Given the description of an element on the screen output the (x, y) to click on. 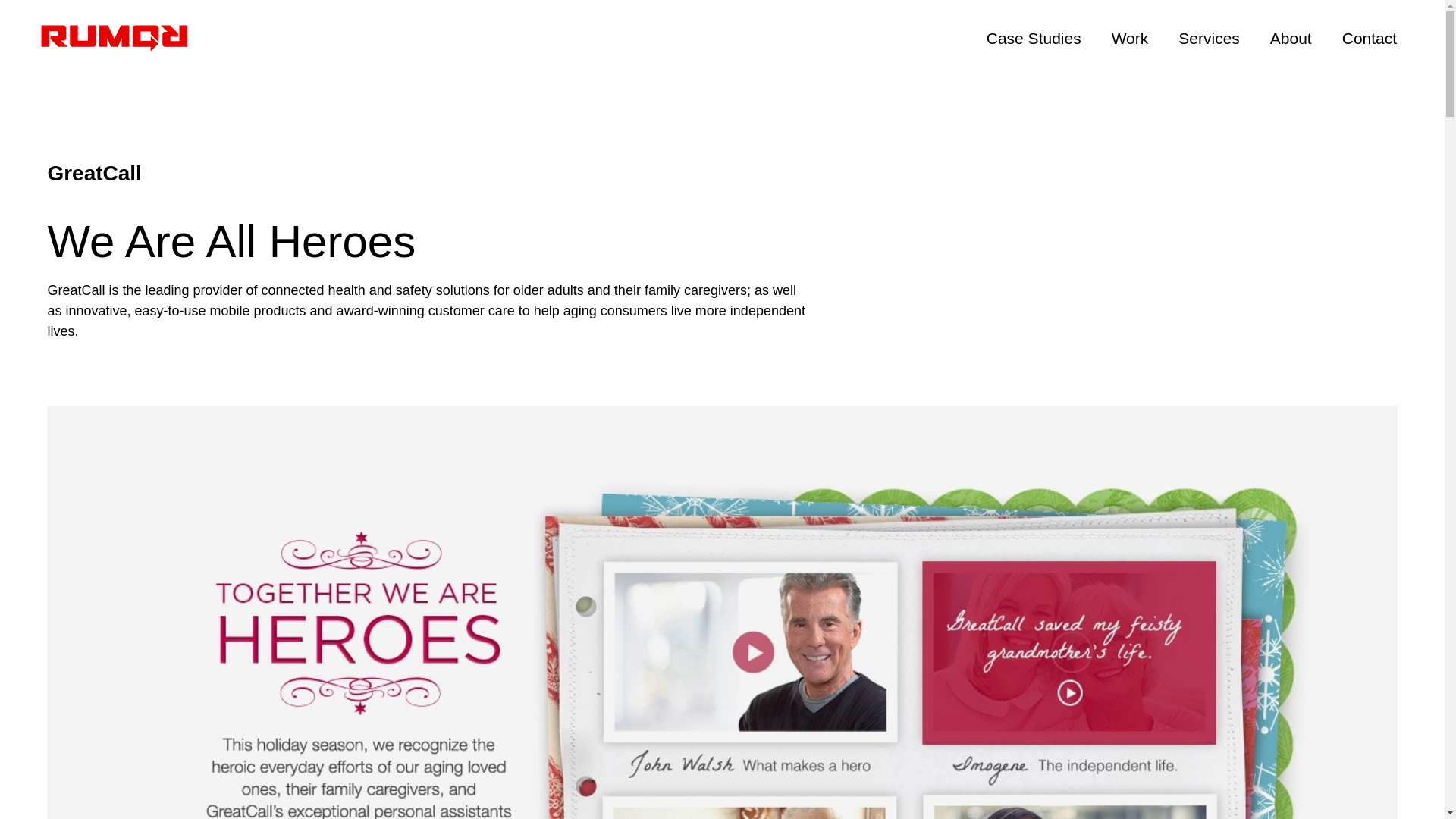
Services (1209, 37)
Work (1129, 37)
Case Studies (1033, 37)
About (1290, 37)
rumor-logo - RUMOR Advertising (113, 38)
Contact (1369, 37)
